Given the description of an element on the screen output the (x, y) to click on. 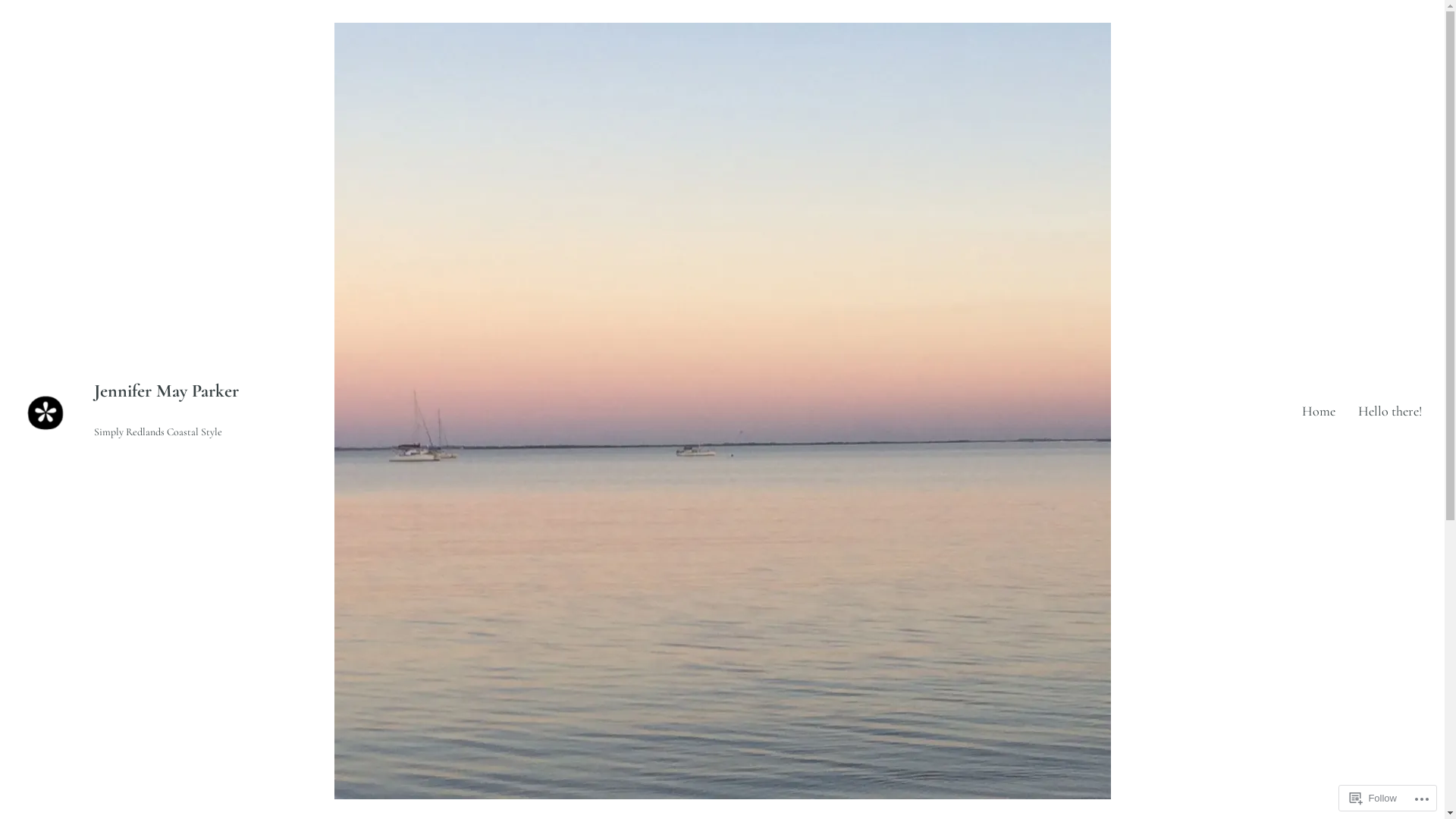
Hello there! Element type: text (1389, 411)
Home Element type: text (1318, 411)
Jennifer May Parker Element type: text (166, 390)
Follow Element type: text (1372, 797)
